Given the description of an element on the screen output the (x, y) to click on. 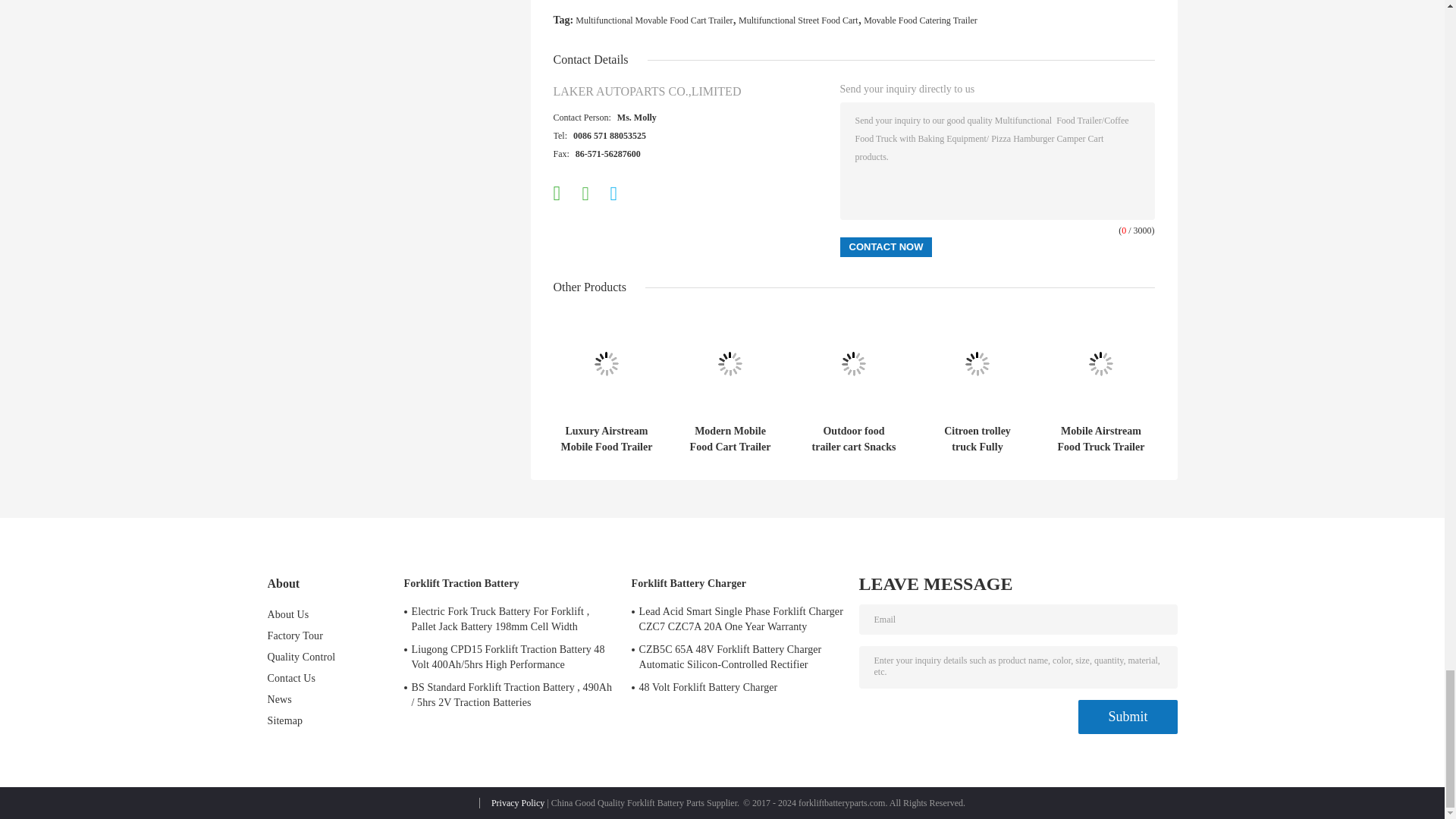
Contact Now (886, 247)
Submit (1127, 716)
